Given the description of an element on the screen output the (x, y) to click on. 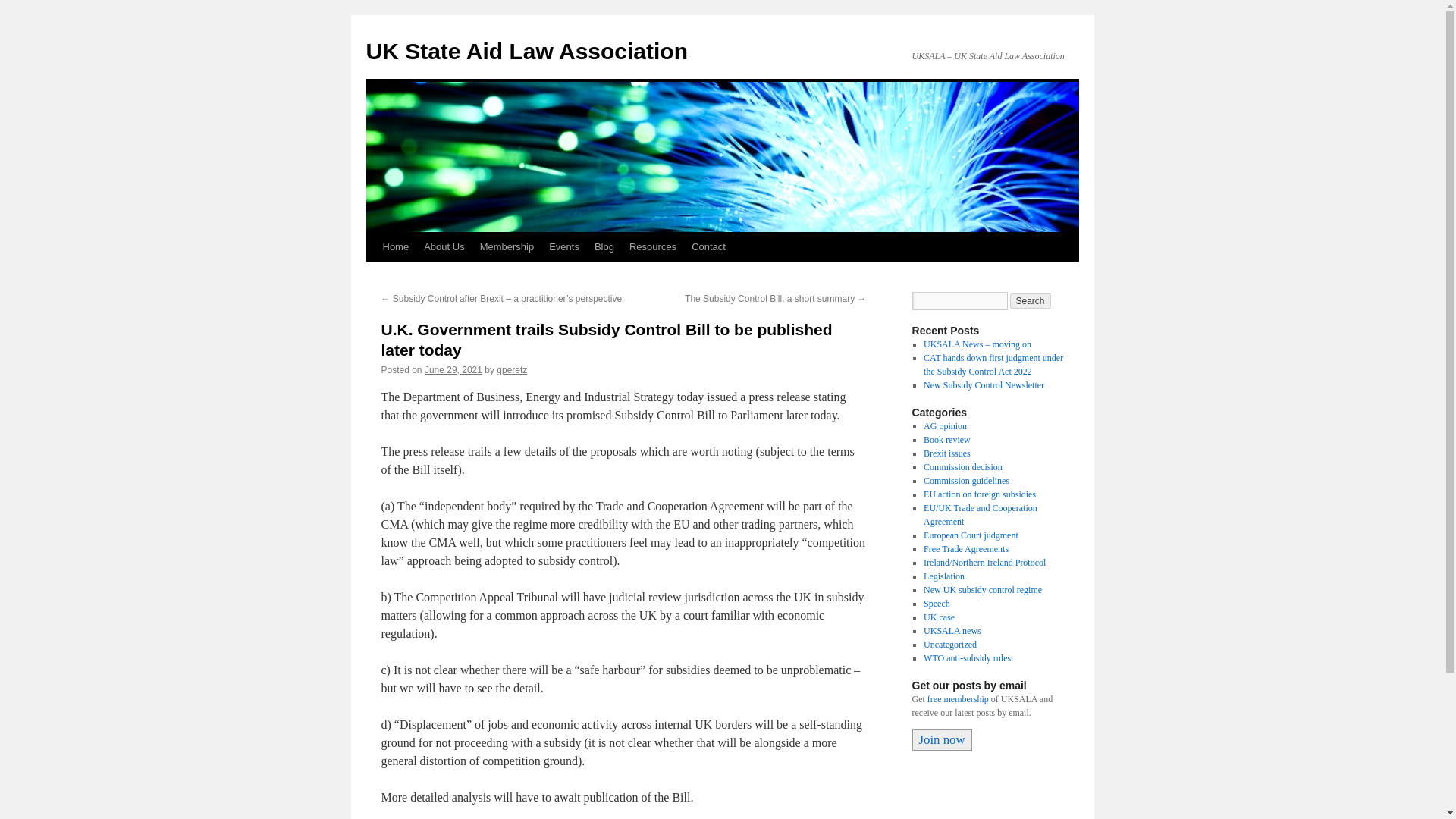
gperetz (511, 369)
UKSALA news (952, 630)
EU action on foreign subsidies (979, 493)
New Subsidy Control Newsletter (983, 385)
Book review (947, 439)
free membership (957, 698)
Resources (652, 246)
Membership (506, 246)
Commission decision (963, 466)
UK State Aid Law Association (526, 50)
Free Trade Agreements (966, 548)
AG opinion (944, 425)
Join now (941, 739)
Blog (603, 246)
Commission guidelines (966, 480)
